Given the description of an element on the screen output the (x, y) to click on. 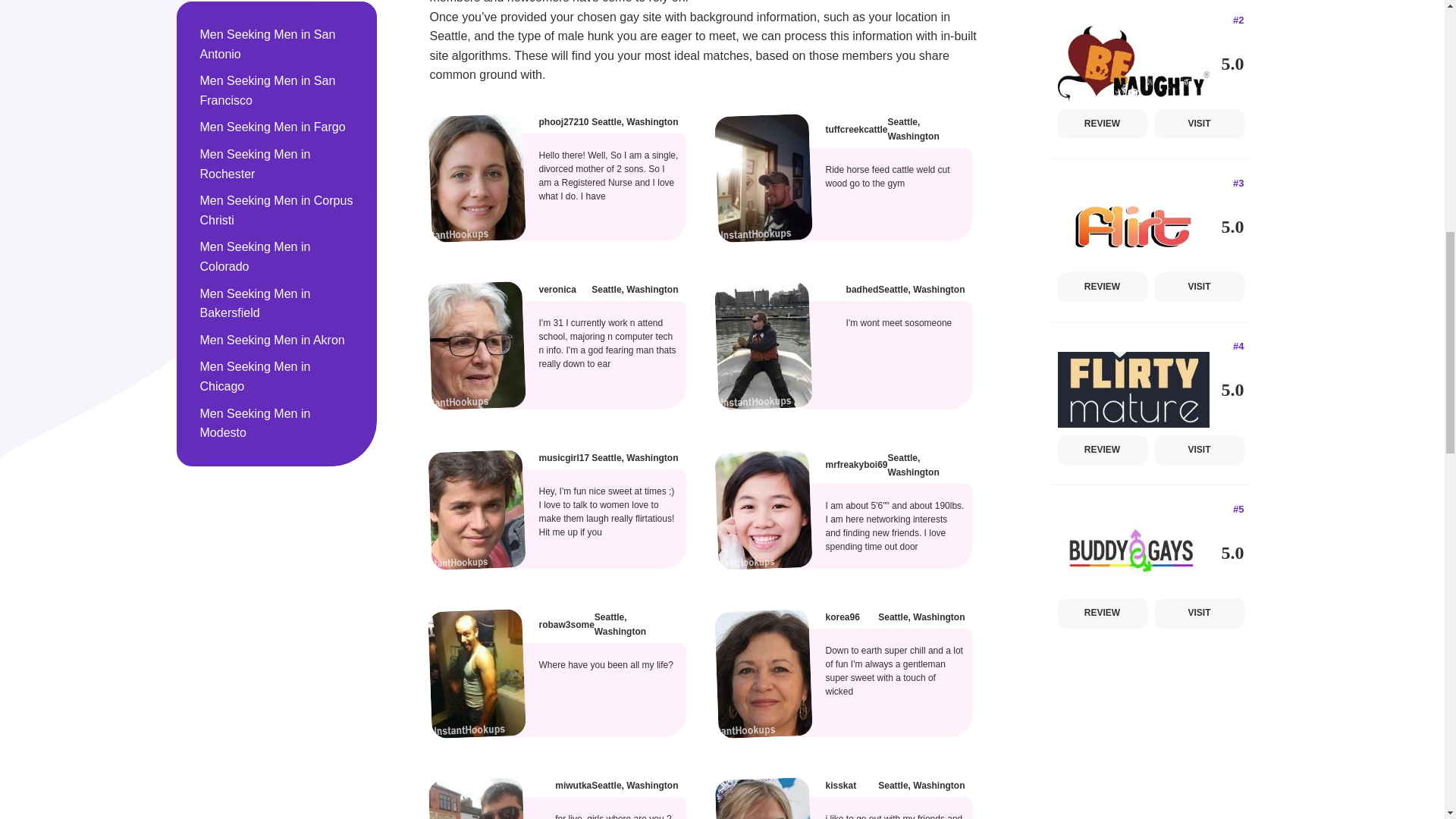
Men Seeking Men in Modesto (276, 423)
Men Seeking Men in San Antonio (276, 44)
Men Seeking Men in Chicago (276, 376)
Men Seeking Men in San Francisco (276, 90)
Men Seeking Men in Rochester (276, 163)
Men Seeking Men in Akron (276, 340)
Men Seeking Men in Bakersfield (276, 303)
Men Seeking Men in Fargo (276, 127)
Men Seeking Men in Colorado (276, 256)
Men Seeking Men in Corpus Christi (276, 210)
